Given the description of an element on the screen output the (x, y) to click on. 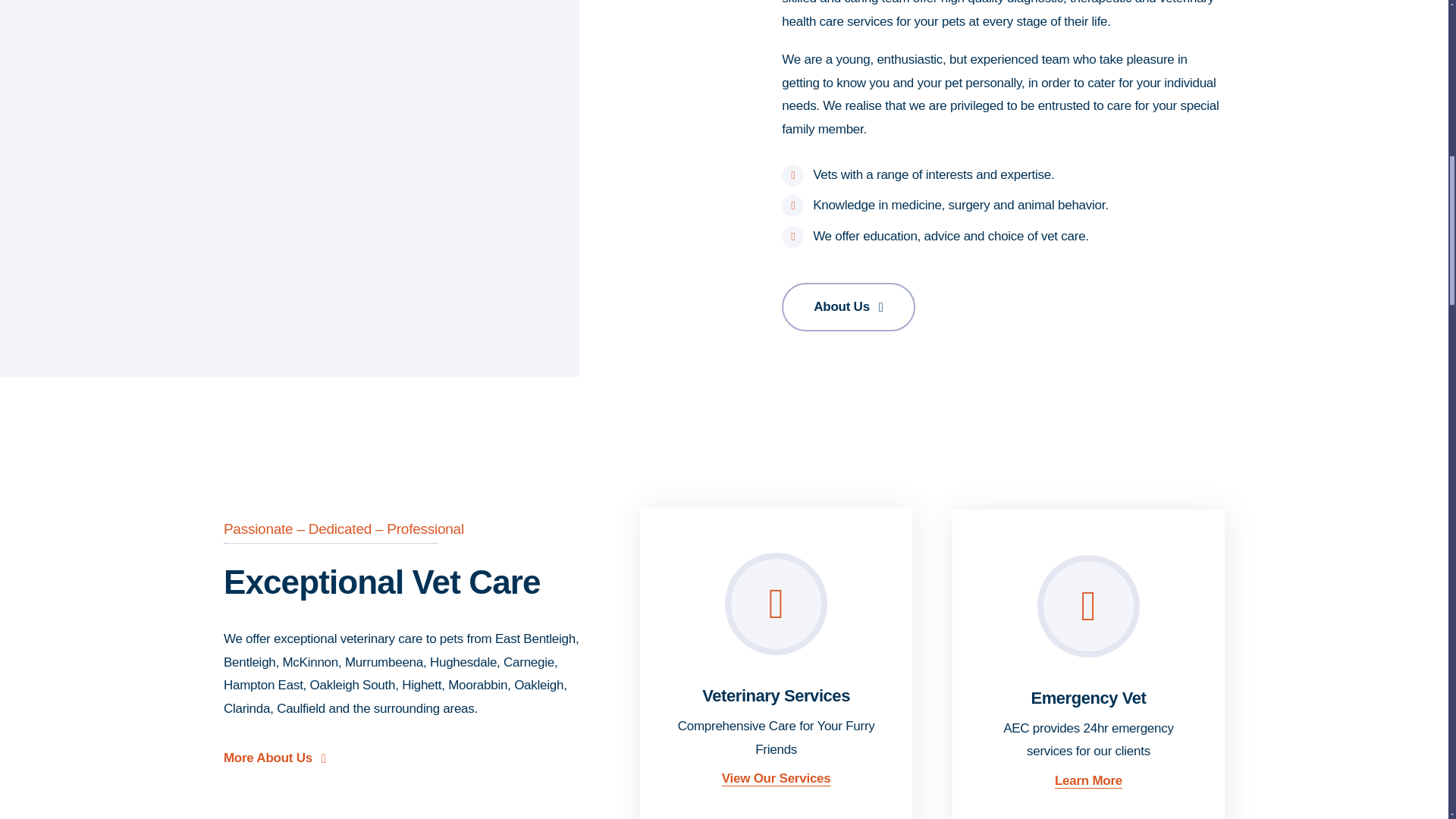
About Us (847, 306)
Veterinary Services (775, 695)
View Our Services (776, 778)
More About Us (274, 758)
